Given the description of an element on the screen output the (x, y) to click on. 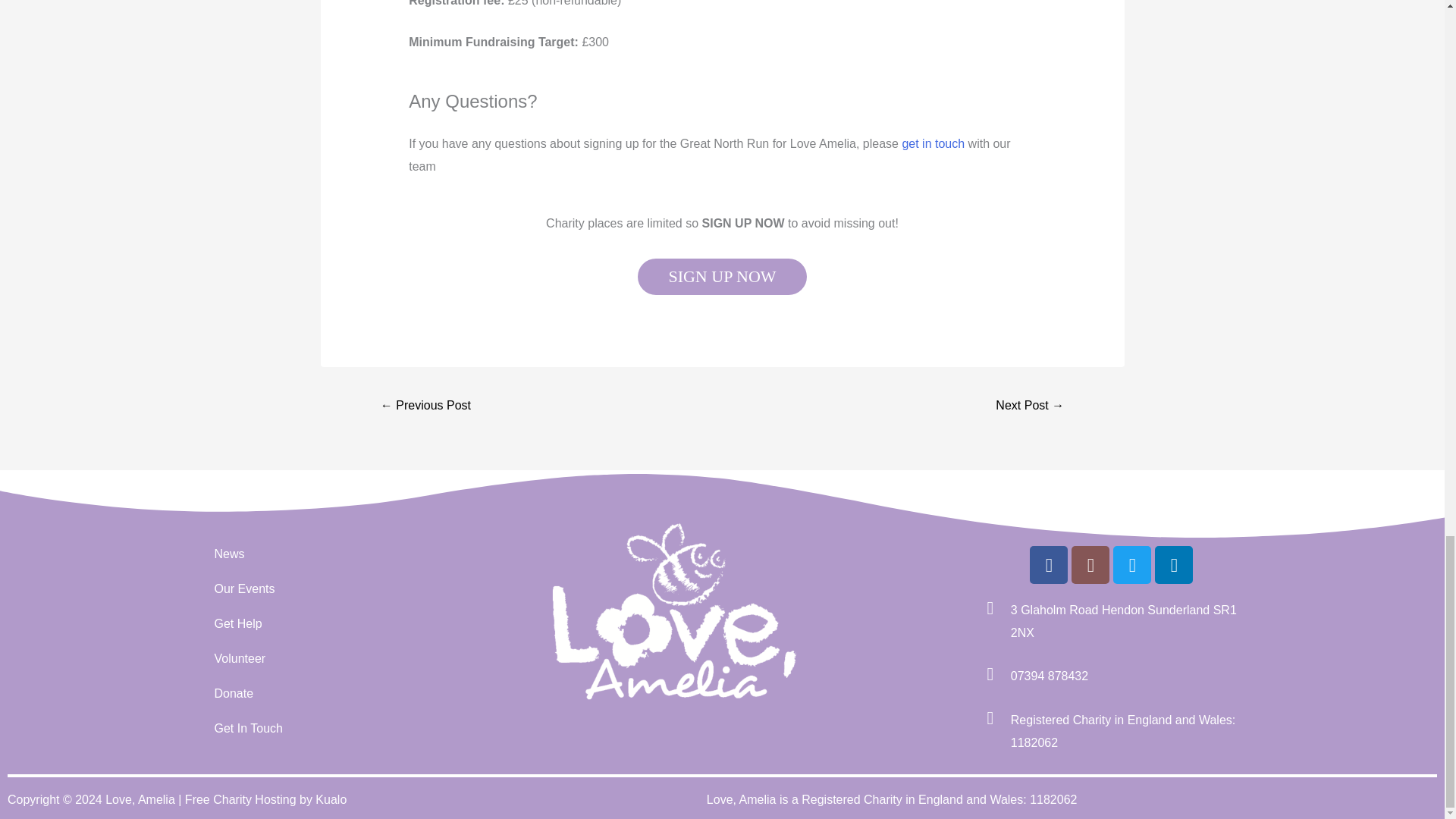
Love, Amelia Pyjama Day (1028, 406)
Color Obstacle Rush 2023 (425, 406)
